Given the description of an element on the screen output the (x, y) to click on. 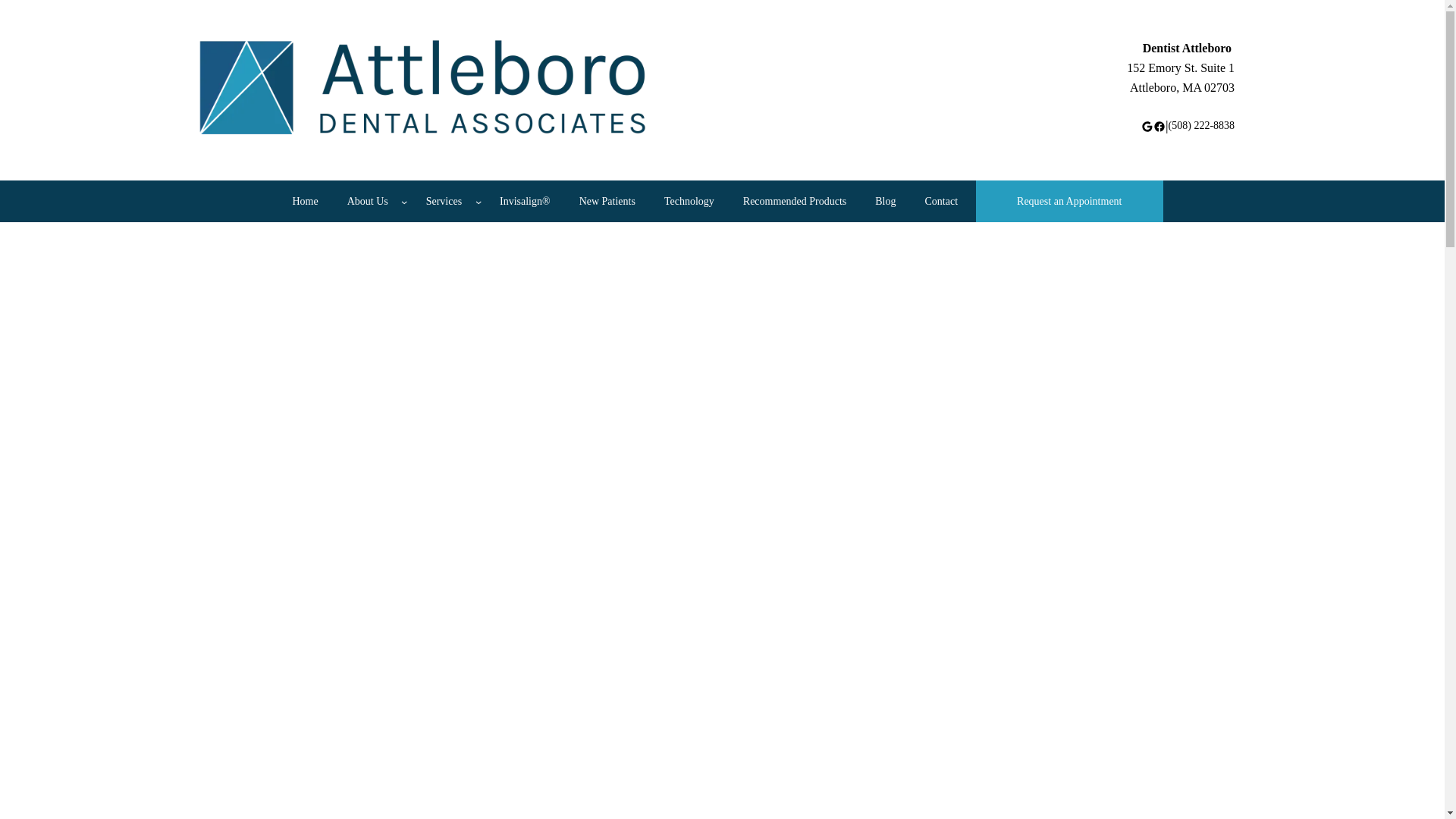
Home (1180, 77)
Facebook (305, 201)
Google (1159, 126)
About Us (1147, 126)
Services (367, 201)
